Given the description of an element on the screen output the (x, y) to click on. 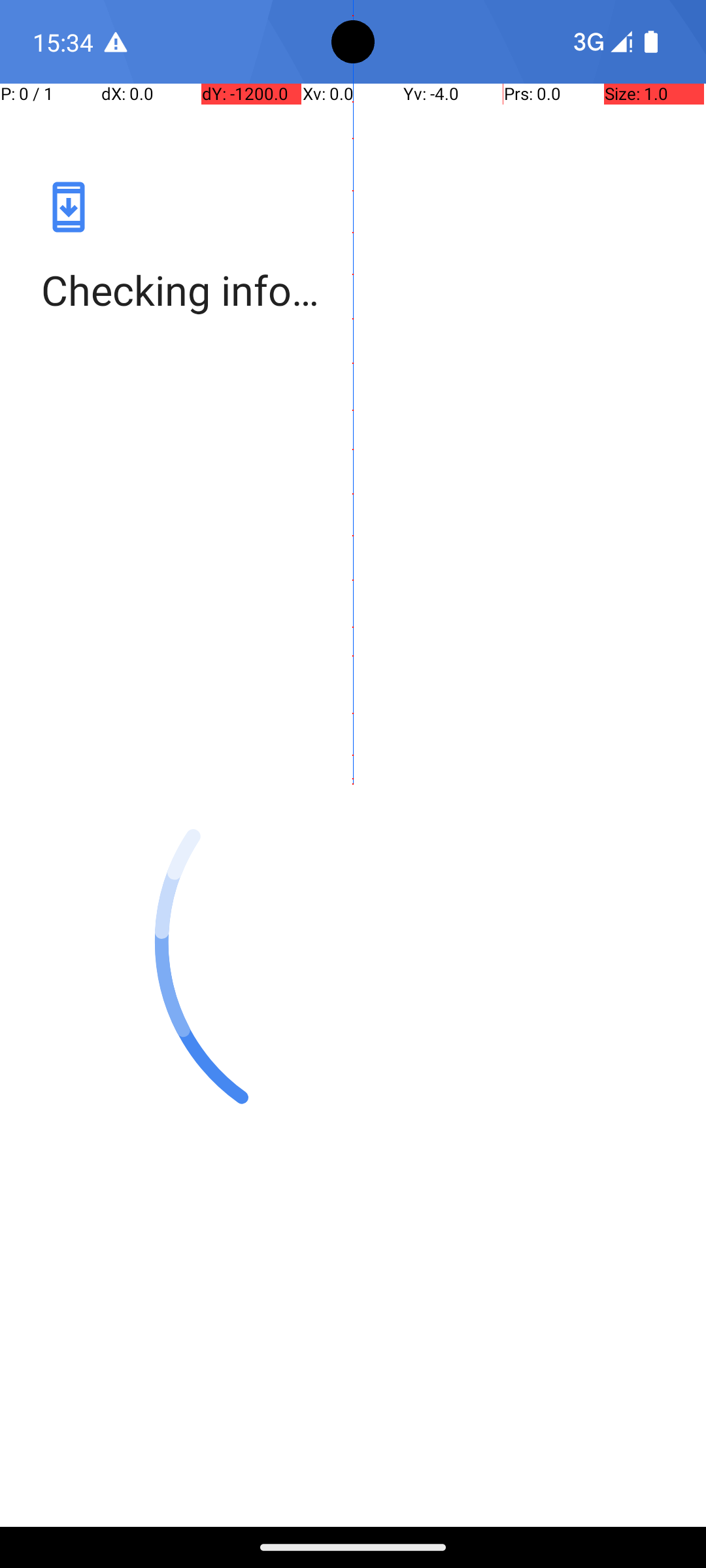
Checking info… Element type: android.widget.TextView (352, 289)
